Given the description of an element on the screen output the (x, y) to click on. 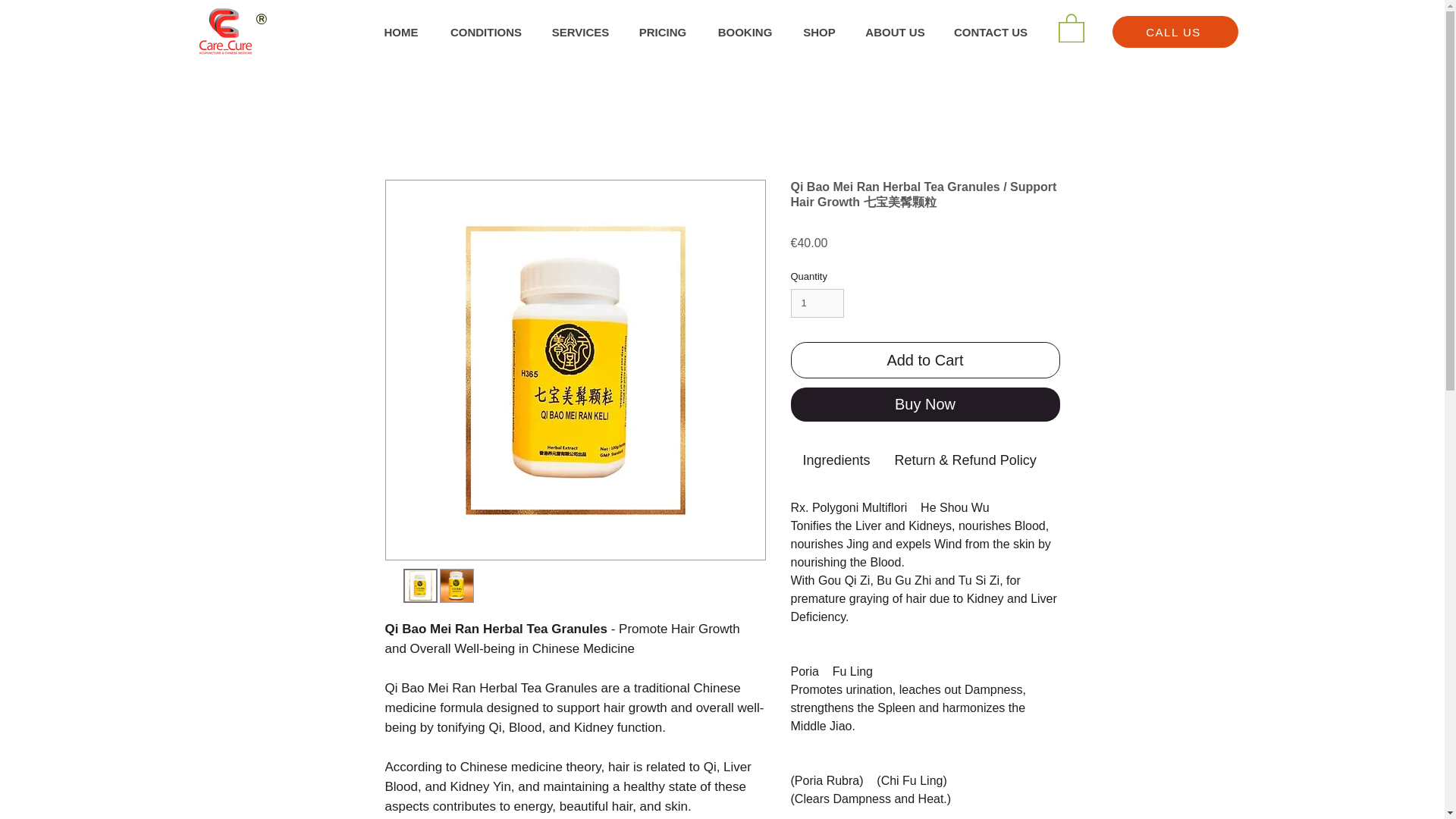
CALL US (1174, 31)
CONDITIONS (485, 32)
HOME (400, 32)
Buy Now (924, 404)
PRICING (662, 32)
BOOKING (744, 32)
SERVICES (580, 32)
Add to Cart (924, 360)
1 (817, 303)
Use right and left arrows to navigate between tabs (836, 460)
ABOUT US (894, 32)
Use right and left arrows to navigate between tabs (1122, 460)
CONTACT US (990, 32)
SHOP (818, 32)
Use right and left arrows to navigate between tabs (964, 460)
